Given the description of an element on the screen output the (x, y) to click on. 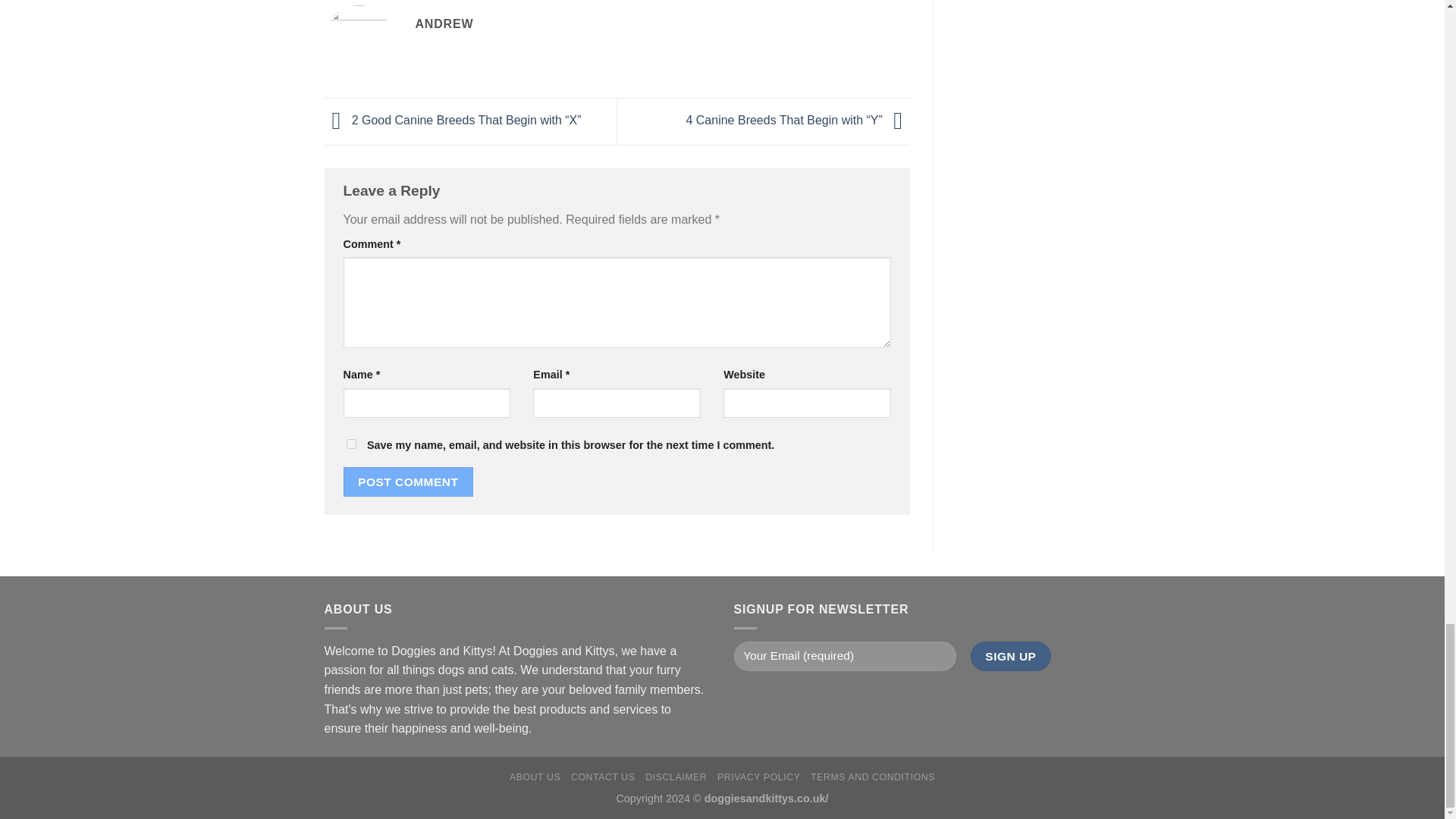
Sign Up (1011, 655)
yes (350, 443)
Post Comment (407, 481)
